Given the description of an element on the screen output the (x, y) to click on. 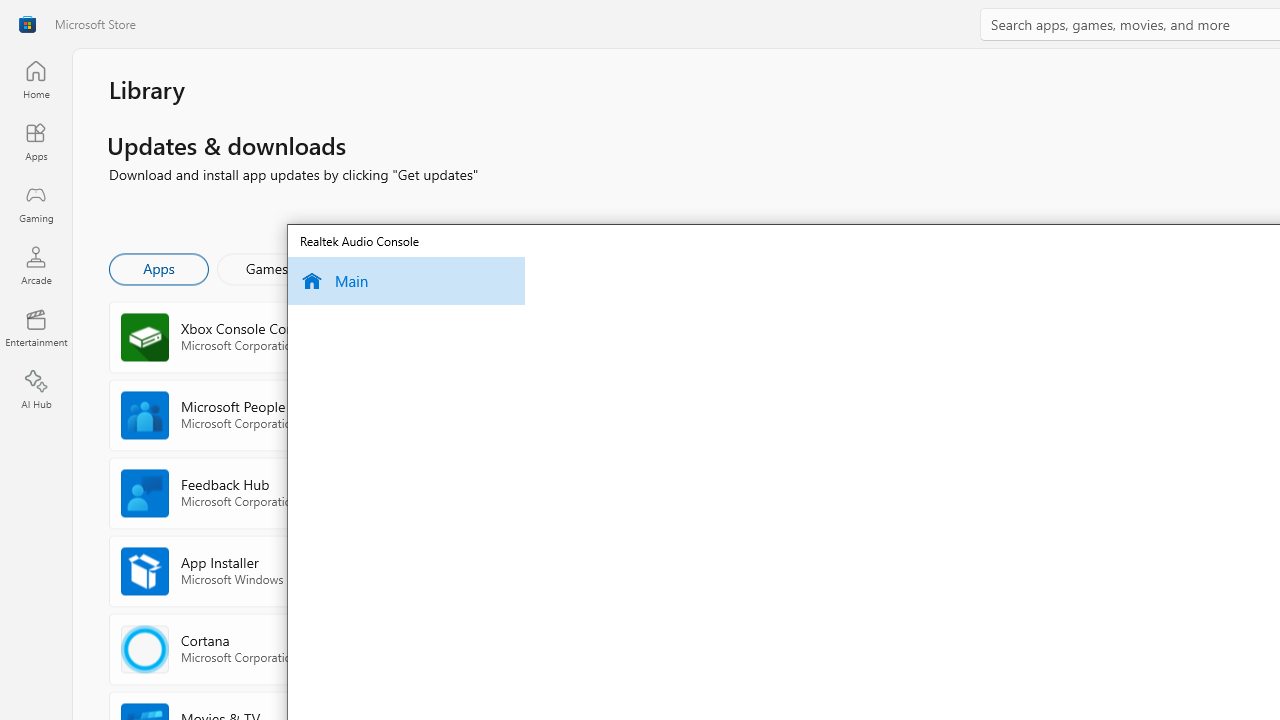
Main (406, 281)
